Given the description of an element on the screen output the (x, y) to click on. 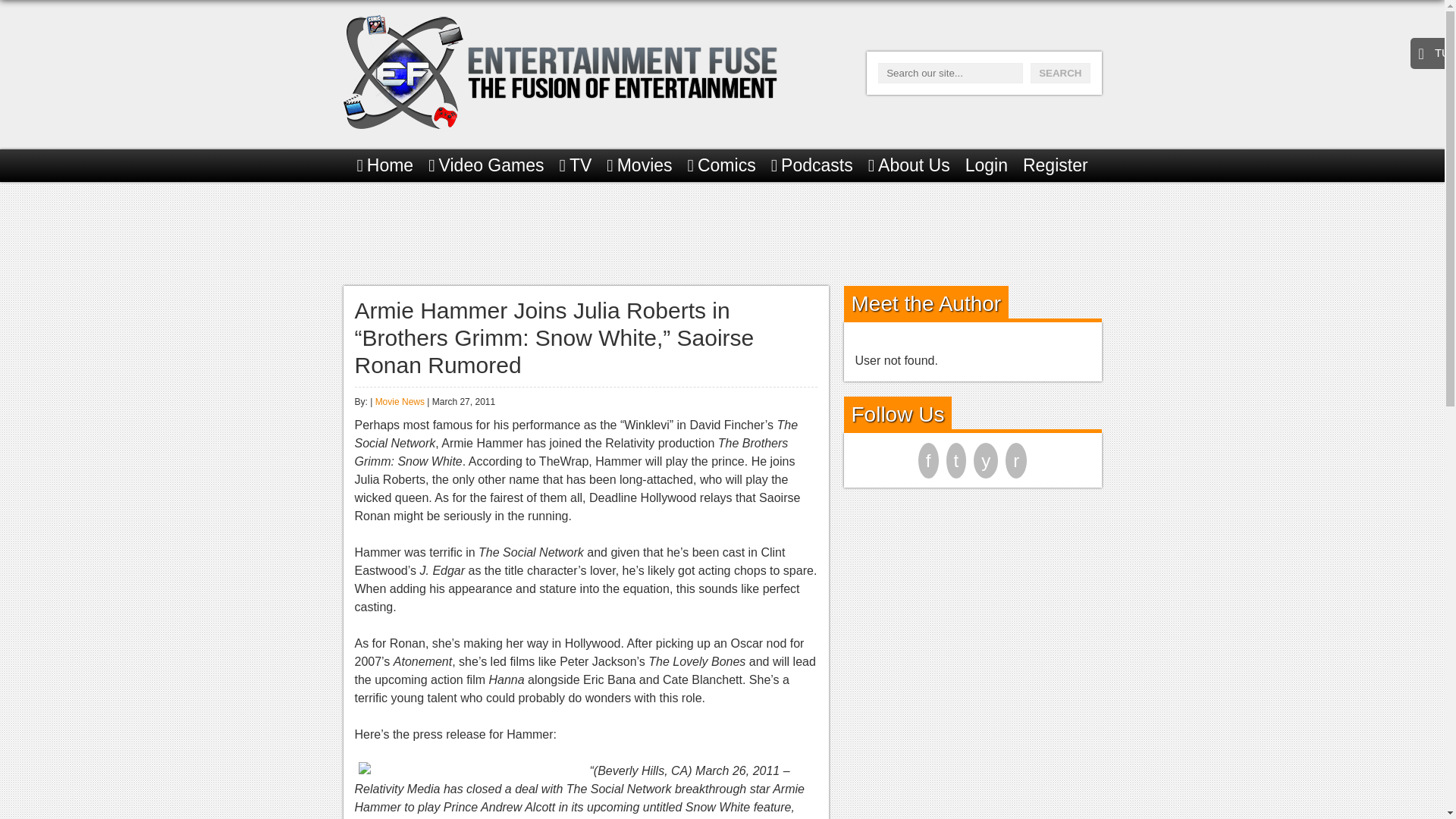
Search (1059, 73)
TV (575, 165)
Home (384, 165)
Advertisement (721, 231)
Movies (639, 165)
Search (1059, 73)
Video Games (485, 165)
Comics (721, 165)
